Given the description of an element on the screen output the (x, y) to click on. 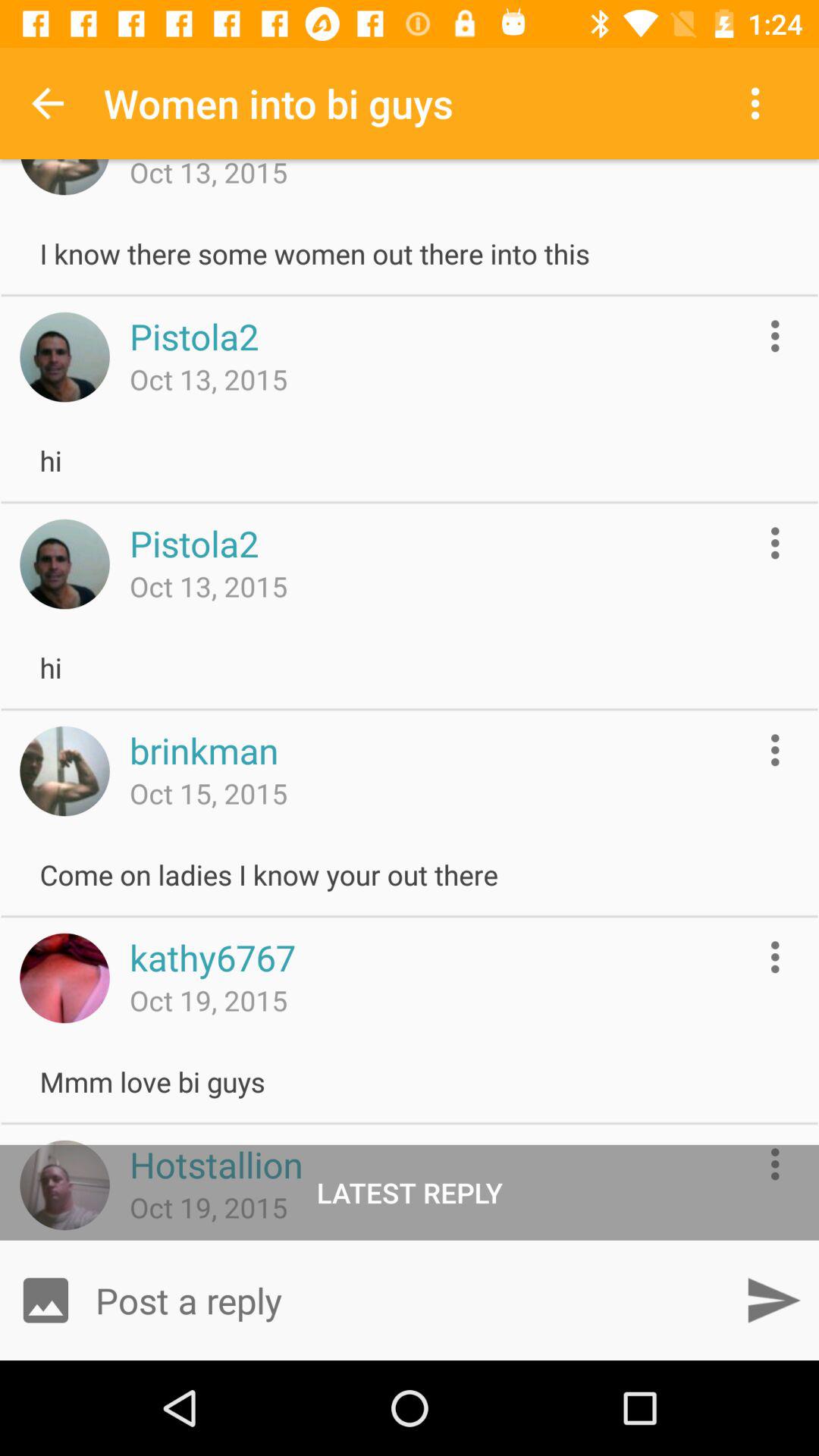
attach photo (45, 1300)
